Given the description of an element on the screen output the (x, y) to click on. 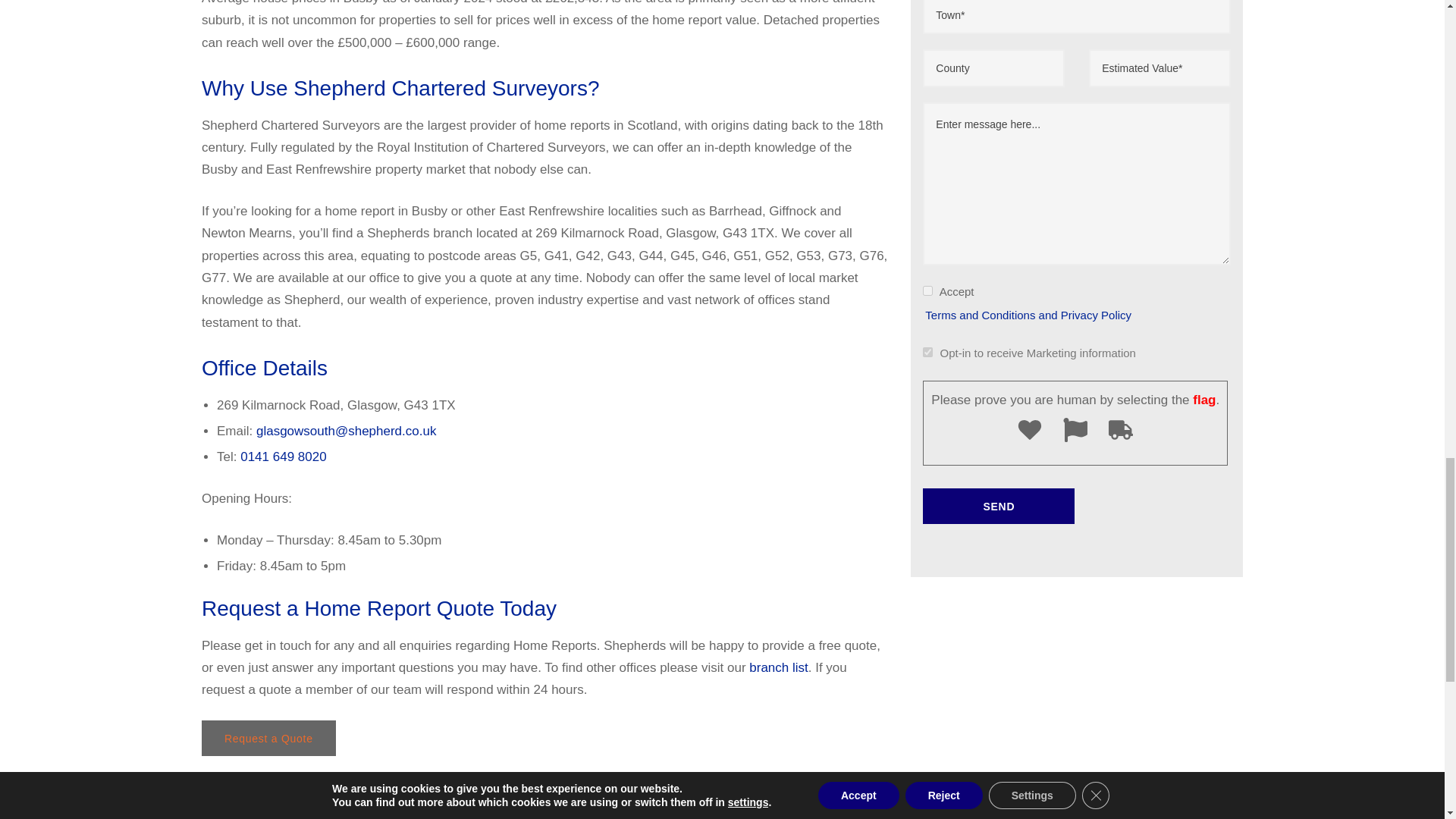
Accept (928, 290)
Send (998, 506)
1 (928, 352)
